Given the description of an element on the screen output the (x, y) to click on. 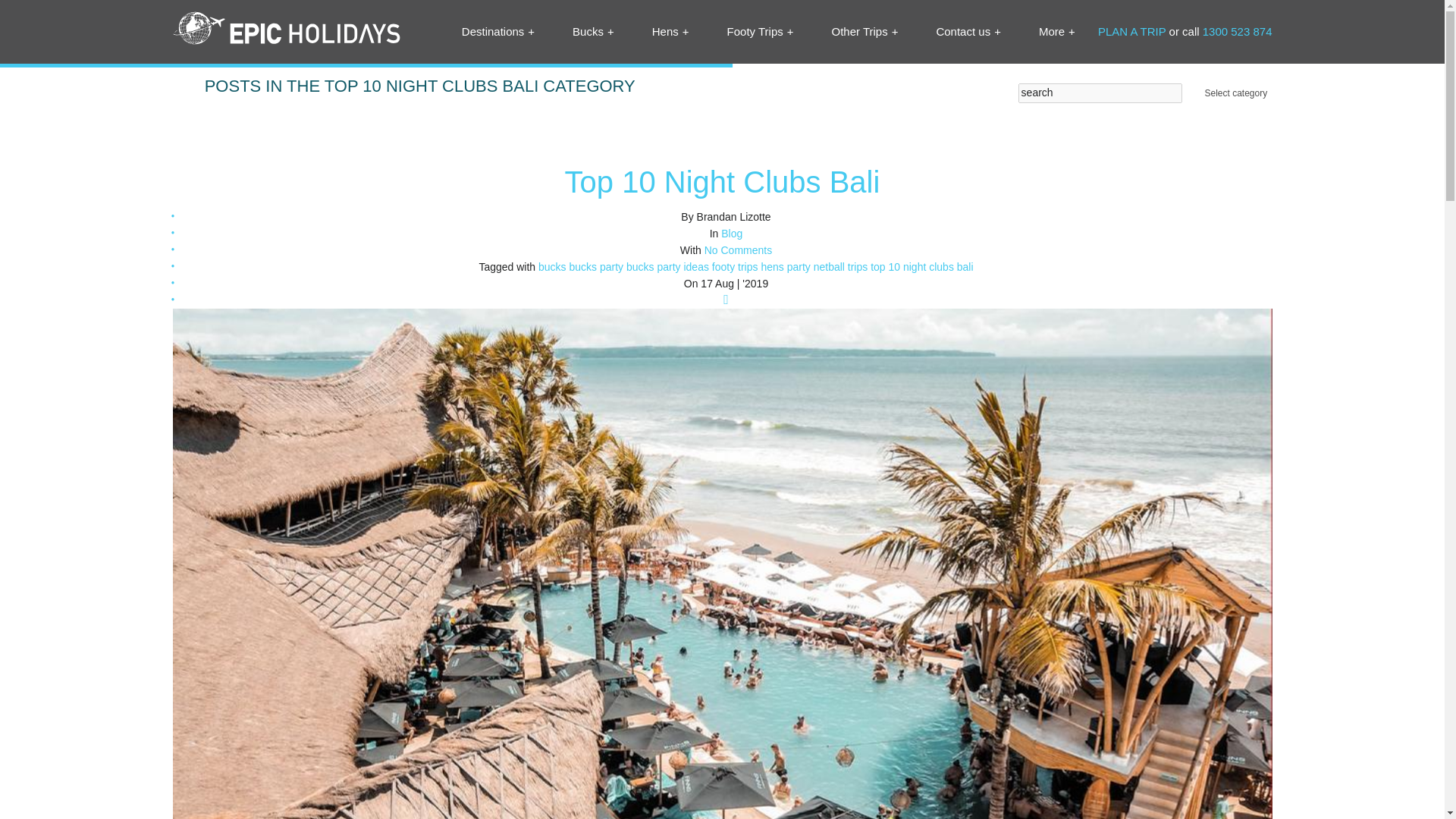
search (1099, 93)
Bucks (593, 31)
Created with Sketch. (286, 28)
Created with Sketch. (286, 31)
Hens (670, 31)
Destinations (497, 31)
